Given the description of an element on the screen output the (x, y) to click on. 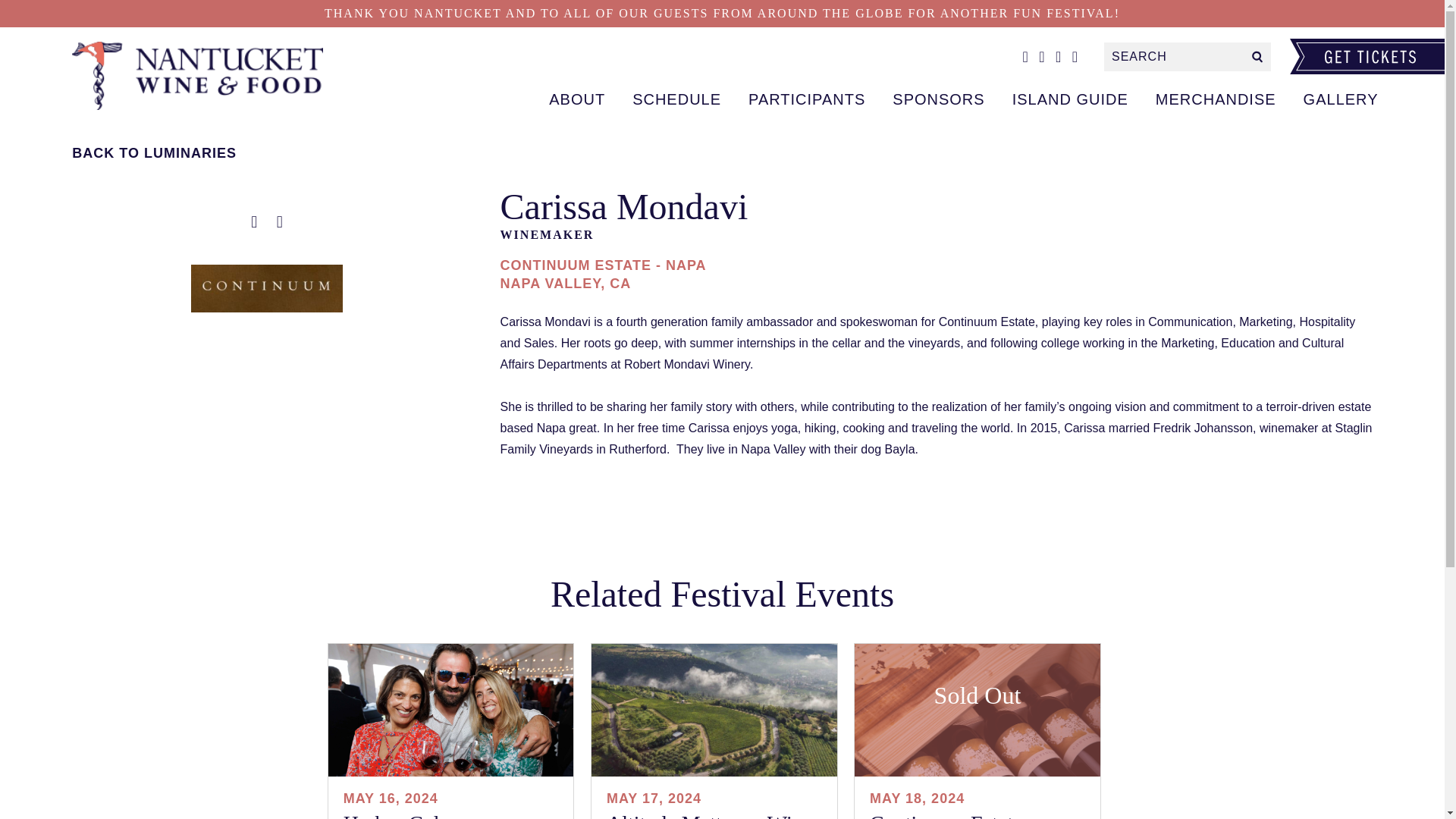
SCHEDULE (676, 99)
ABOUT (576, 99)
BACK TO LUMINARIES (266, 153)
PARTICIPANTS (807, 99)
GALLERY (1340, 99)
SPONSORS (938, 99)
Participants (208, 75)
ISLAND GUIDE (1069, 99)
MERCHANDISE (1215, 99)
